Given the description of an element on the screen output the (x, y) to click on. 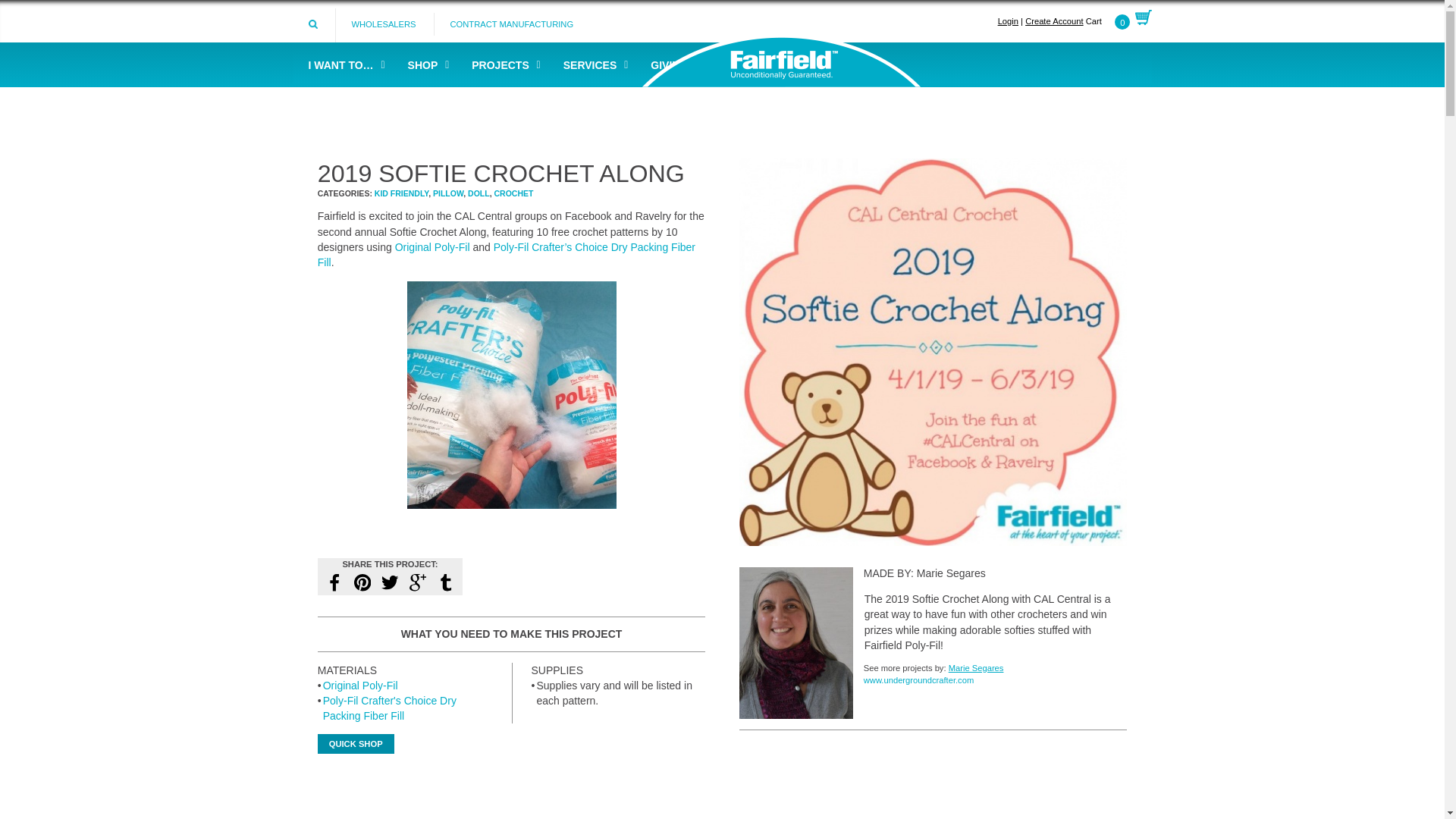
WHOLESALERS (382, 24)
View In Store (360, 685)
Cart  0  (1118, 20)
Create Account (1054, 20)
Login (1007, 20)
SHOP (425, 64)
View In Store (390, 707)
CONTRACT MANUFACTURING (510, 23)
